Given the description of an element on the screen output the (x, y) to click on. 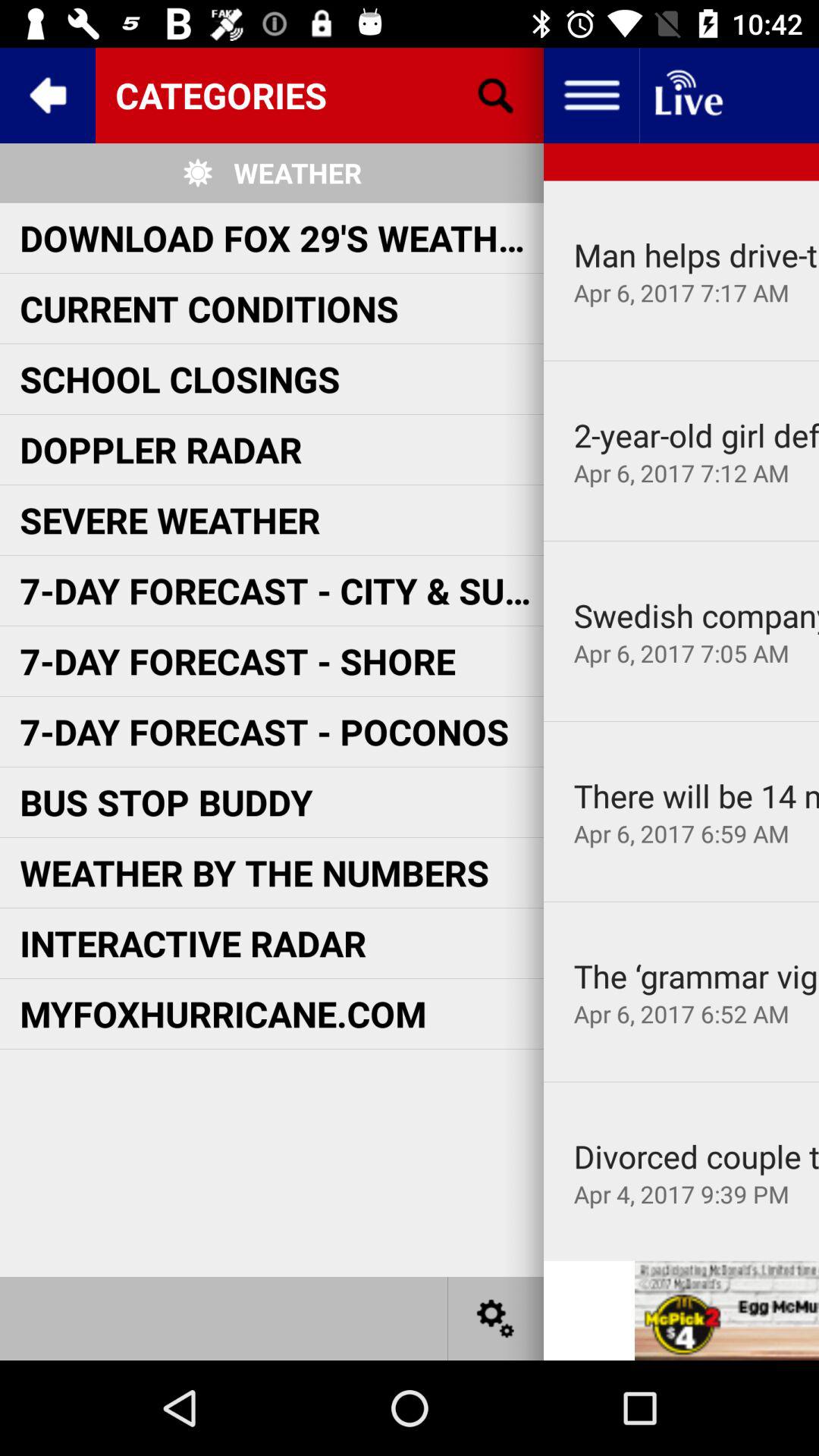
turn off item next to the myfoxhurricane.com item (696, 975)
